Given the description of an element on the screen output the (x, y) to click on. 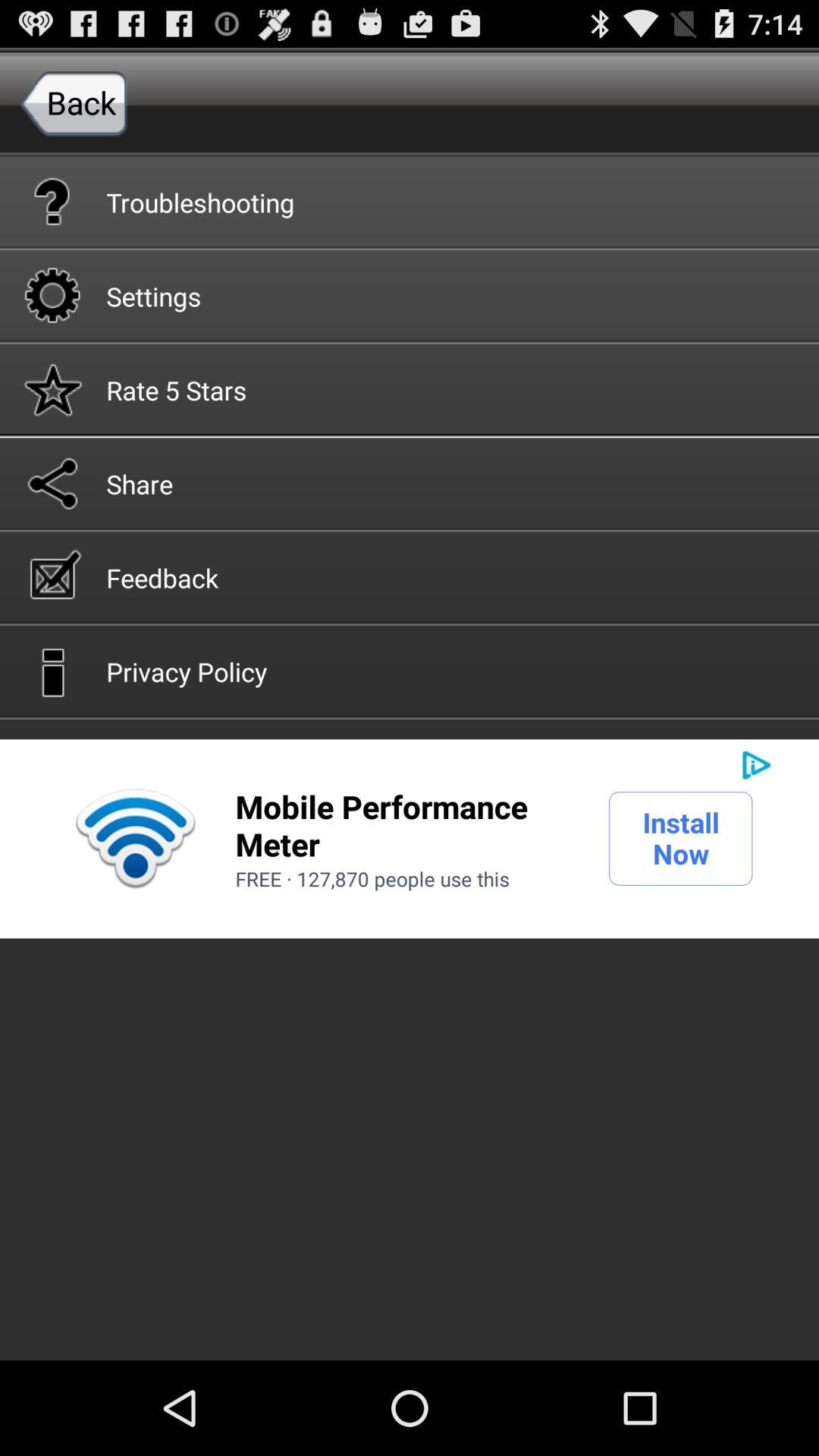
click back (73, 102)
